Given the description of an element on the screen output the (x, y) to click on. 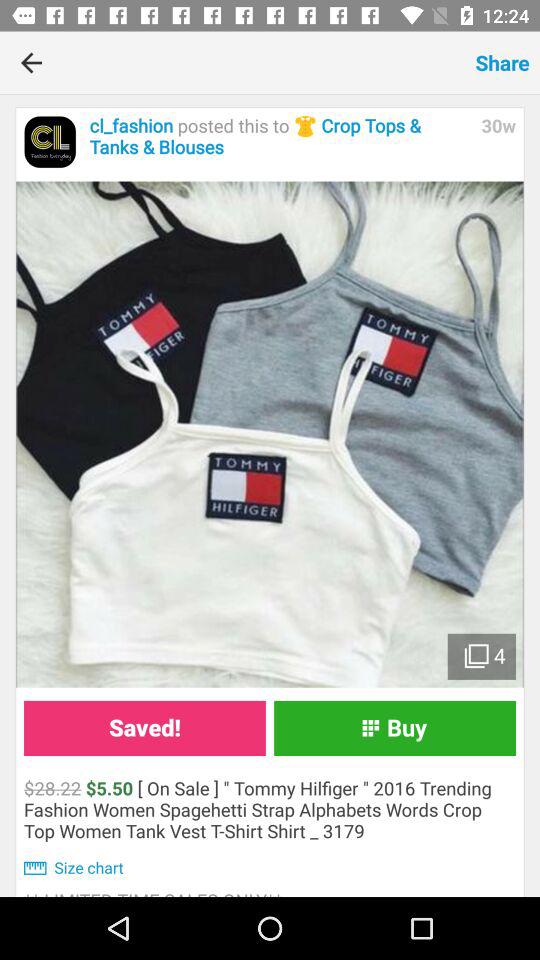
select the icon next to the cl_fashion posted this (50, 141)
